Given the description of an element on the screen output the (x, y) to click on. 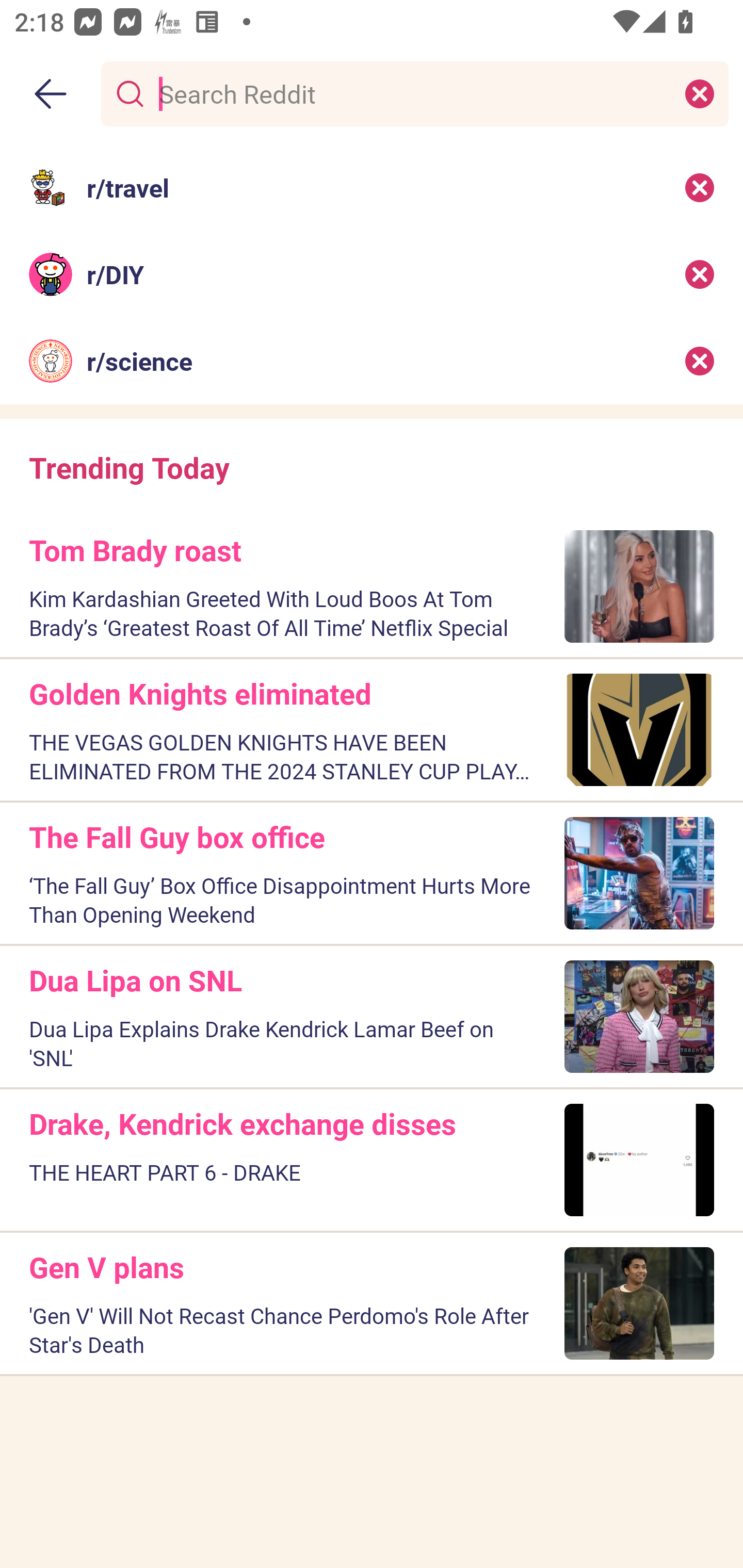
Back (50, 93)
Search Reddit (410, 93)
Clear search (699, 93)
r/travel Recent search: r/travel Remove (371, 187)
Remove (699, 187)
r/DIY Recent search: r/DIY Remove (371, 274)
Remove (699, 274)
r/science Recent search: r/science Remove (371, 361)
Remove (699, 361)
